Given the description of an element on the screen output the (x, y) to click on. 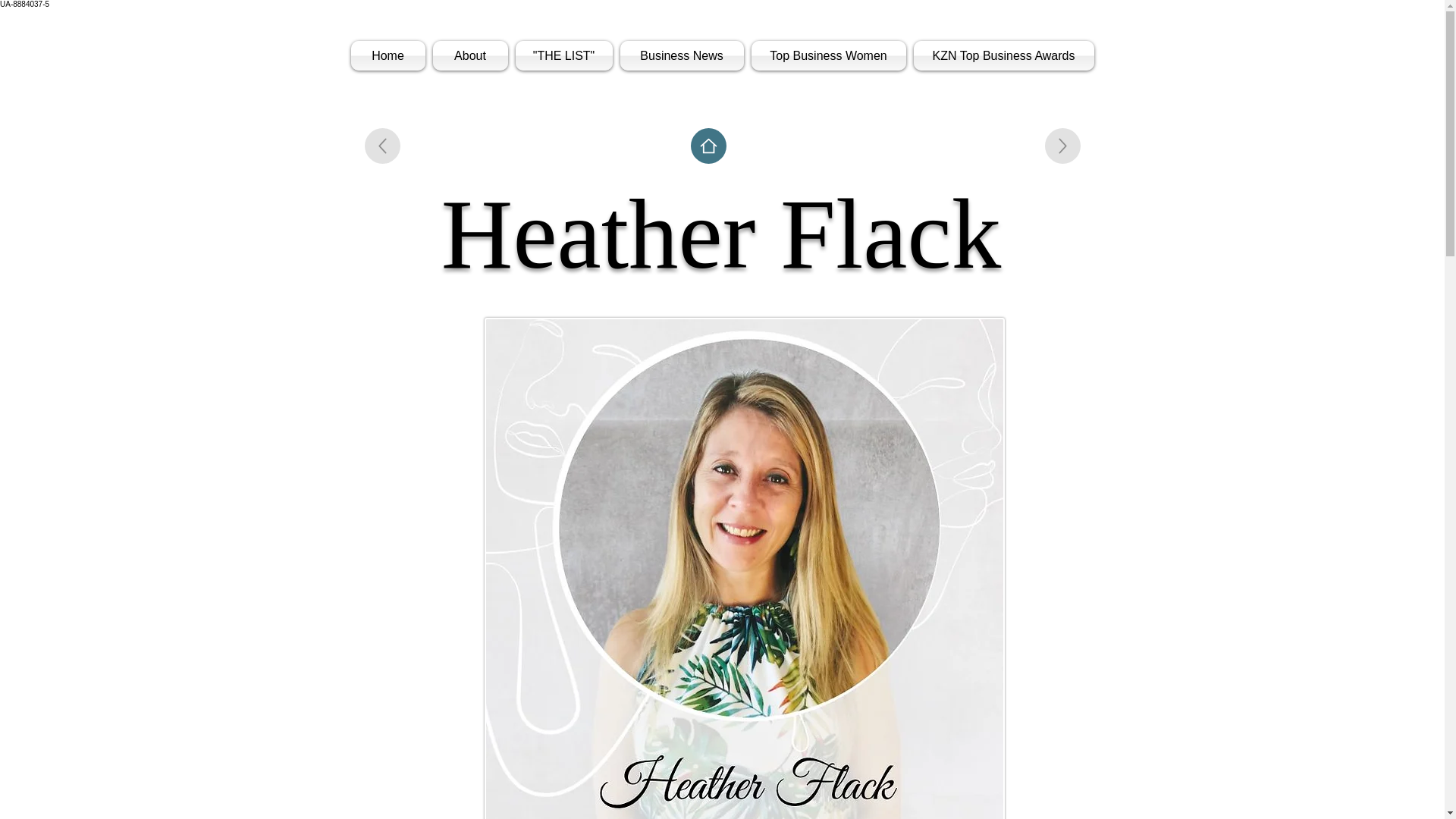
"THE LIST" (563, 55)
Top Business Women (829, 55)
KZN Top Business Awards (1002, 55)
About (470, 55)
Home (389, 55)
Business News (680, 55)
